Given the description of an element on the screen output the (x, y) to click on. 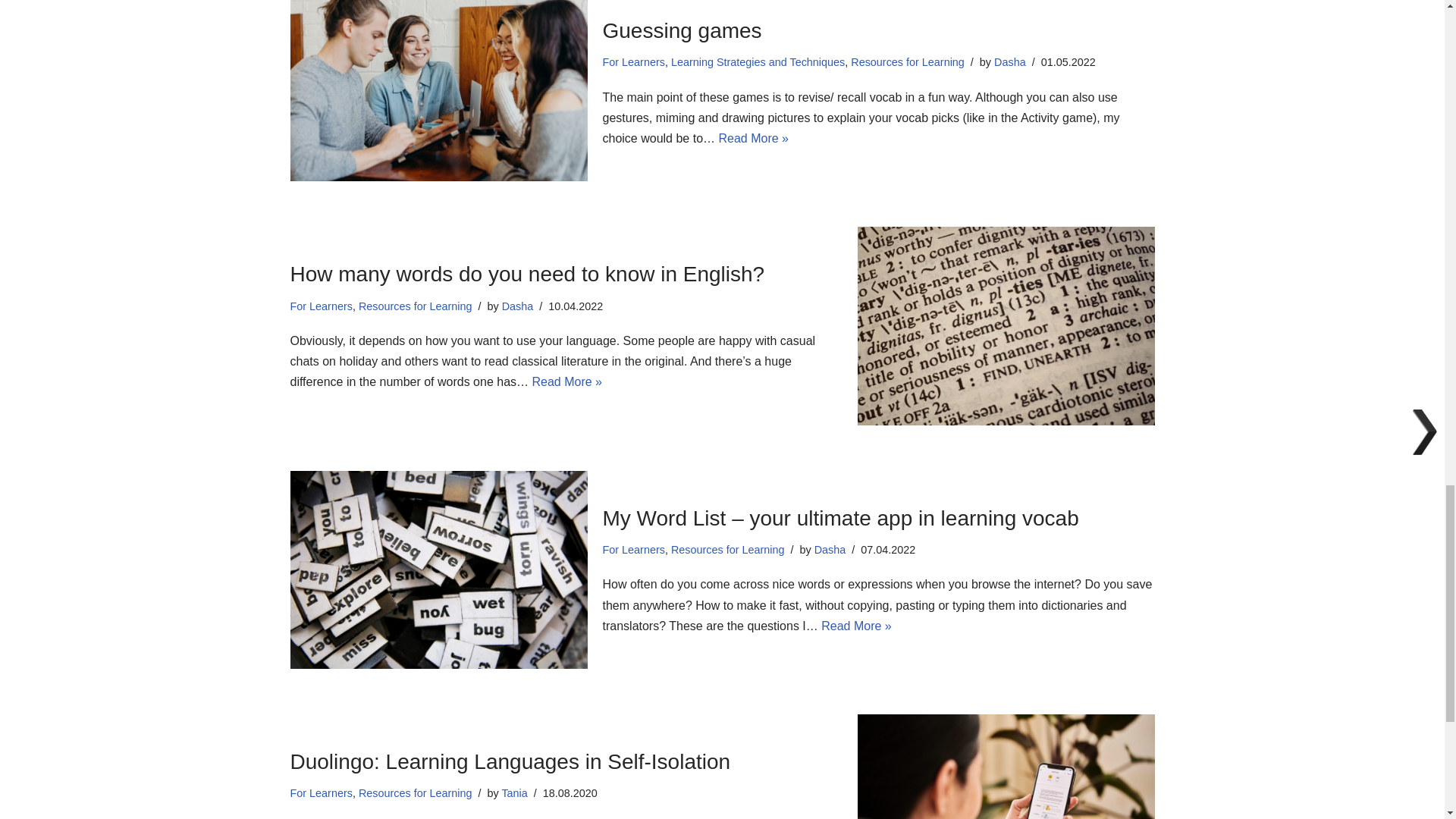
Posts by Dasha (1010, 61)
Guessing games (437, 90)
